Given the description of an element on the screen output the (x, y) to click on. 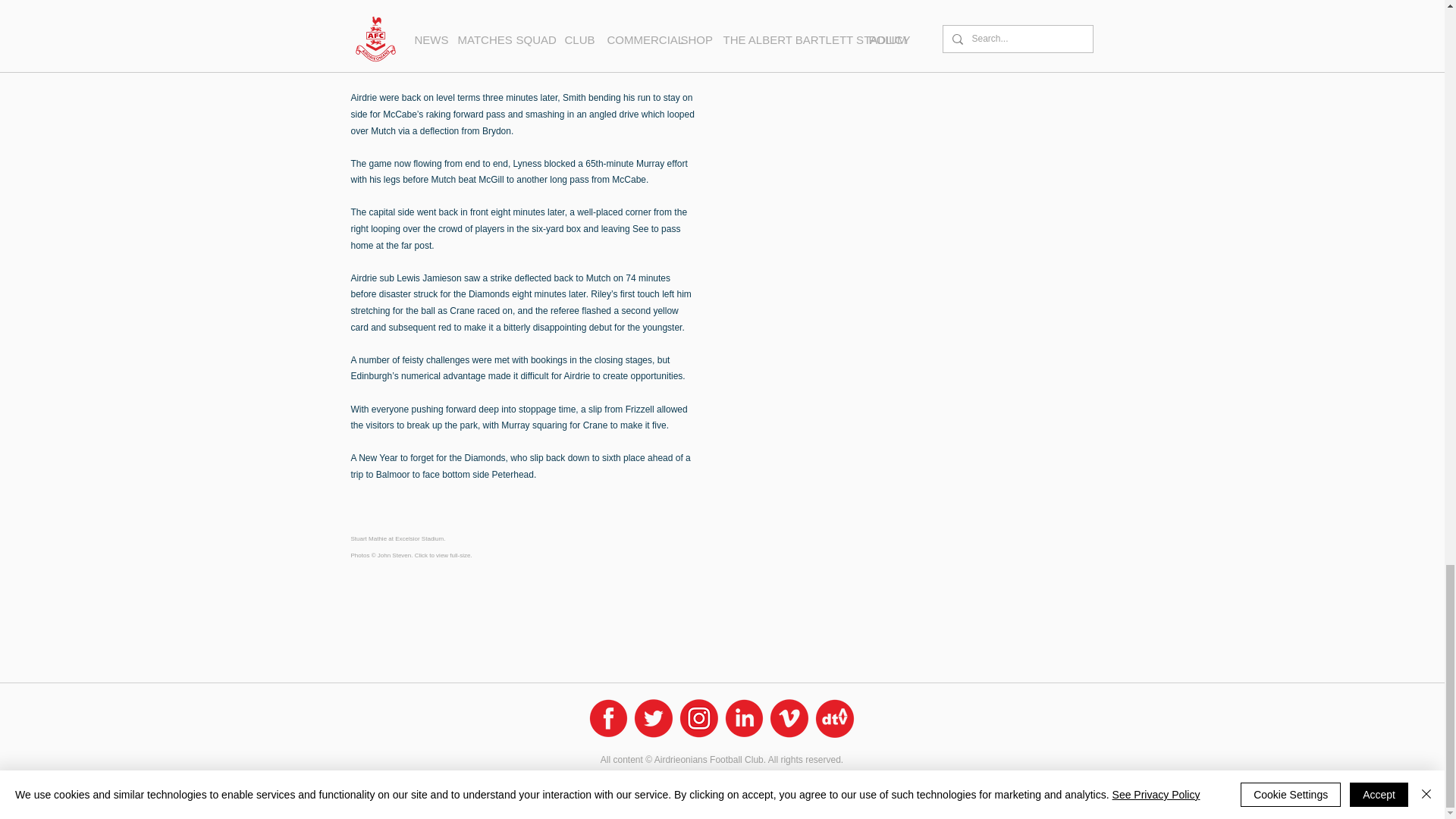
Twitter Tweet (449, 588)
Facebook Like (379, 588)
